Given the description of an element on the screen output the (x, y) to click on. 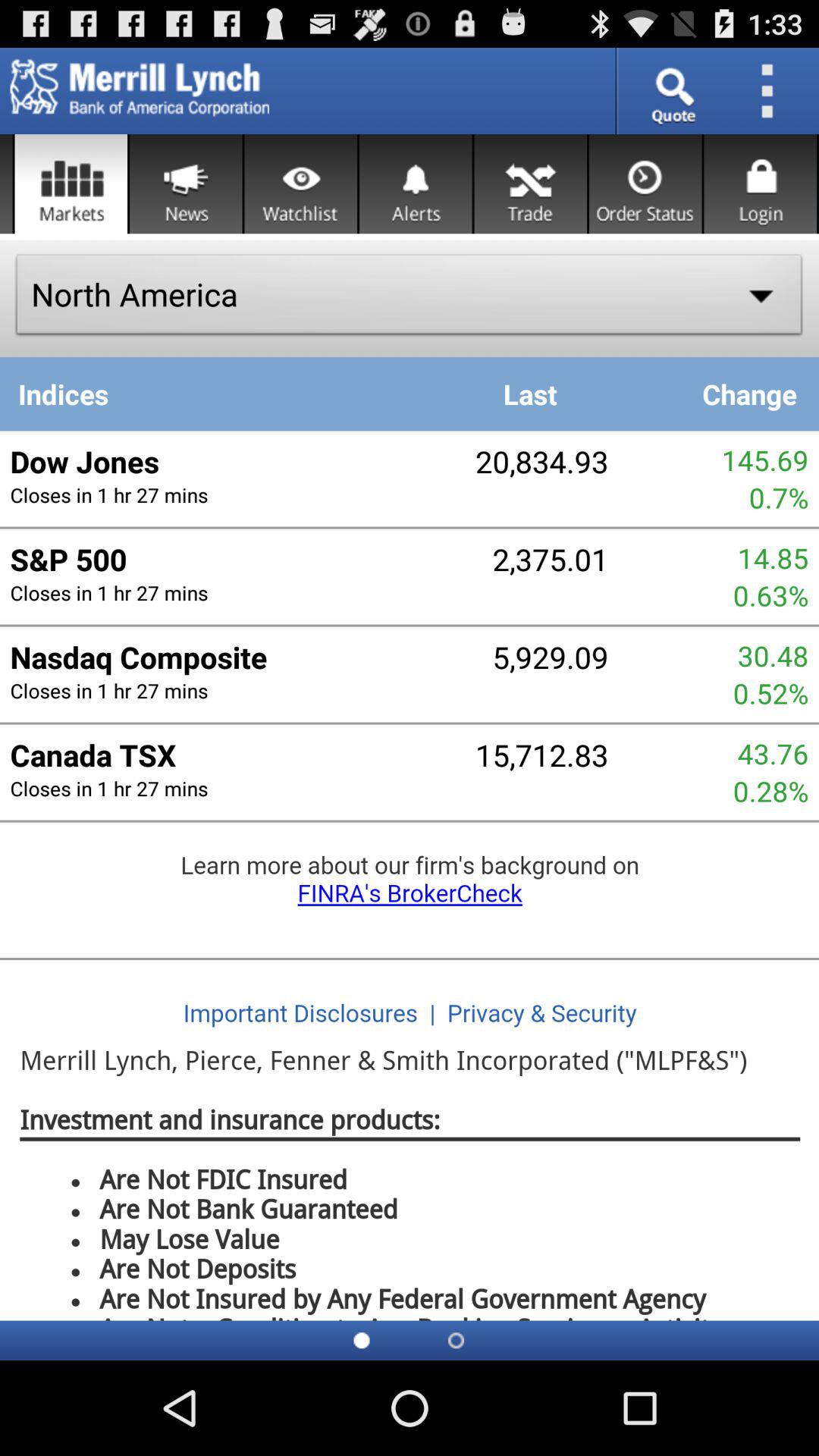
search bar (671, 90)
